Given the description of an element on the screen output the (x, y) to click on. 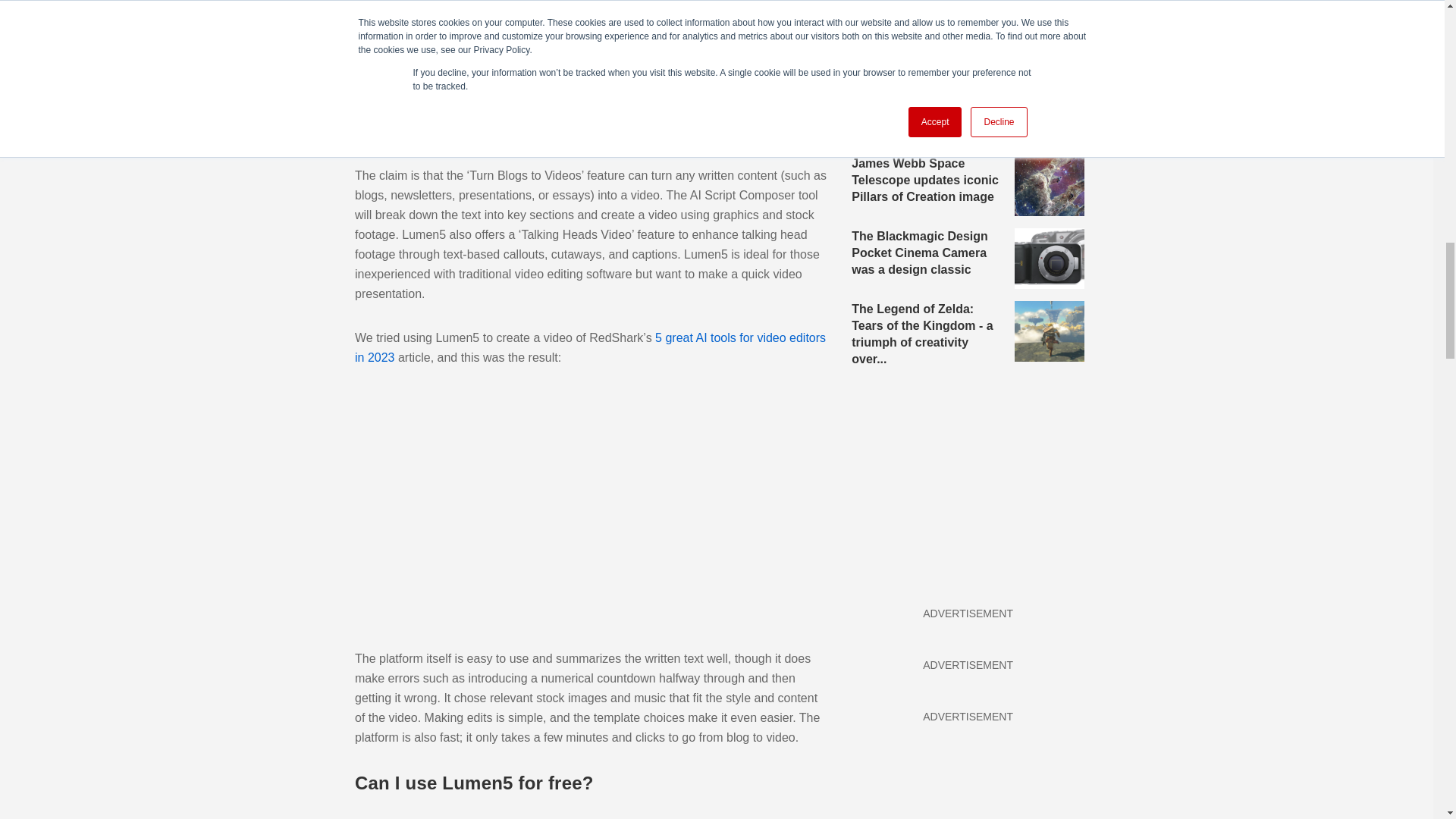
5 great AI tools for video editors in 2023 (590, 347)
GoPro issues huge price drops across its range (967, 39)
Lumen5 Review Video (590, 508)
